Given the description of an element on the screen output the (x, y) to click on. 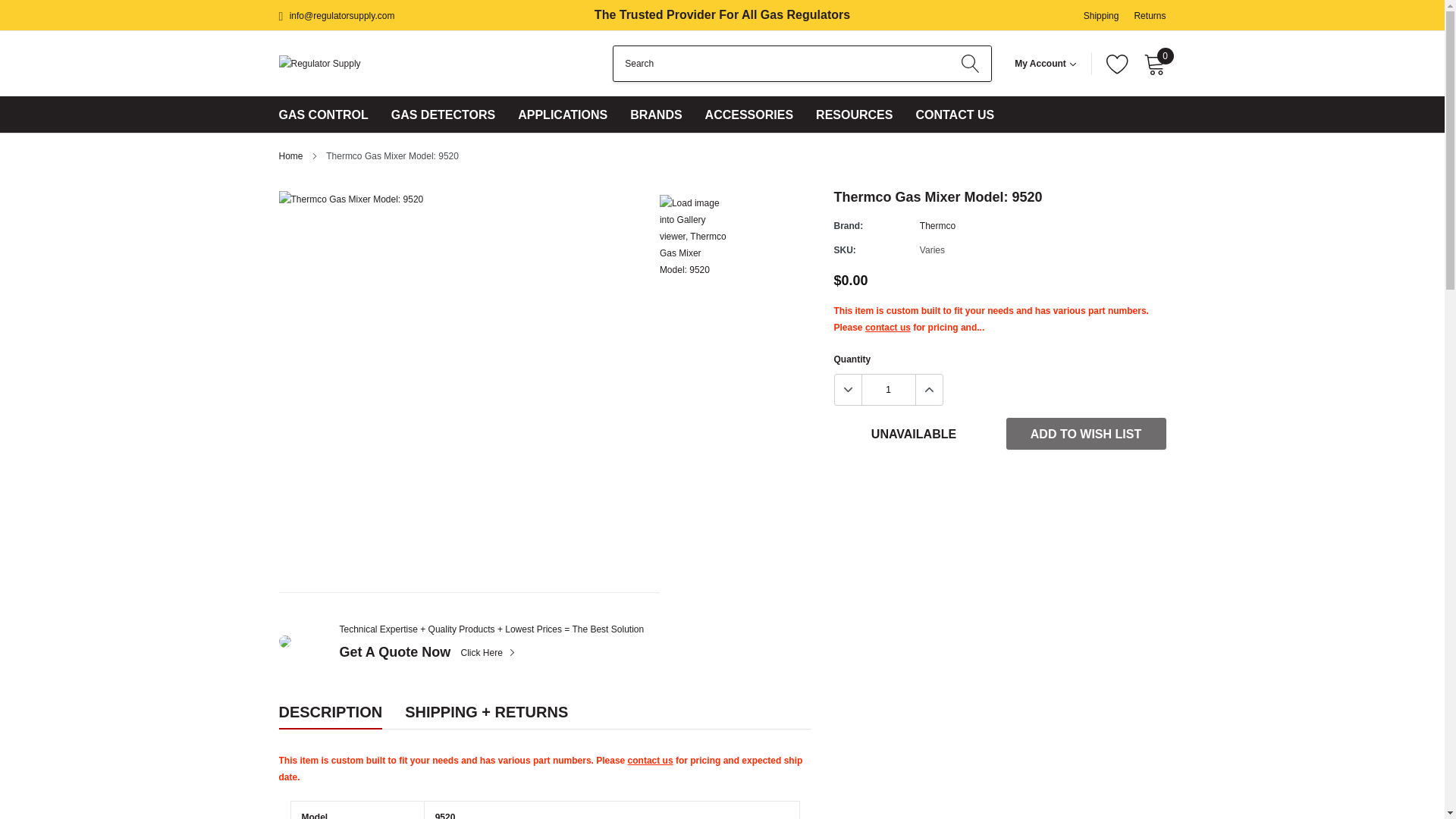
Thermco (937, 225)
search (970, 63)
Returns (1150, 15)
1 (887, 389)
Shipping (1101, 15)
